Given the description of an element on the screen output the (x, y) to click on. 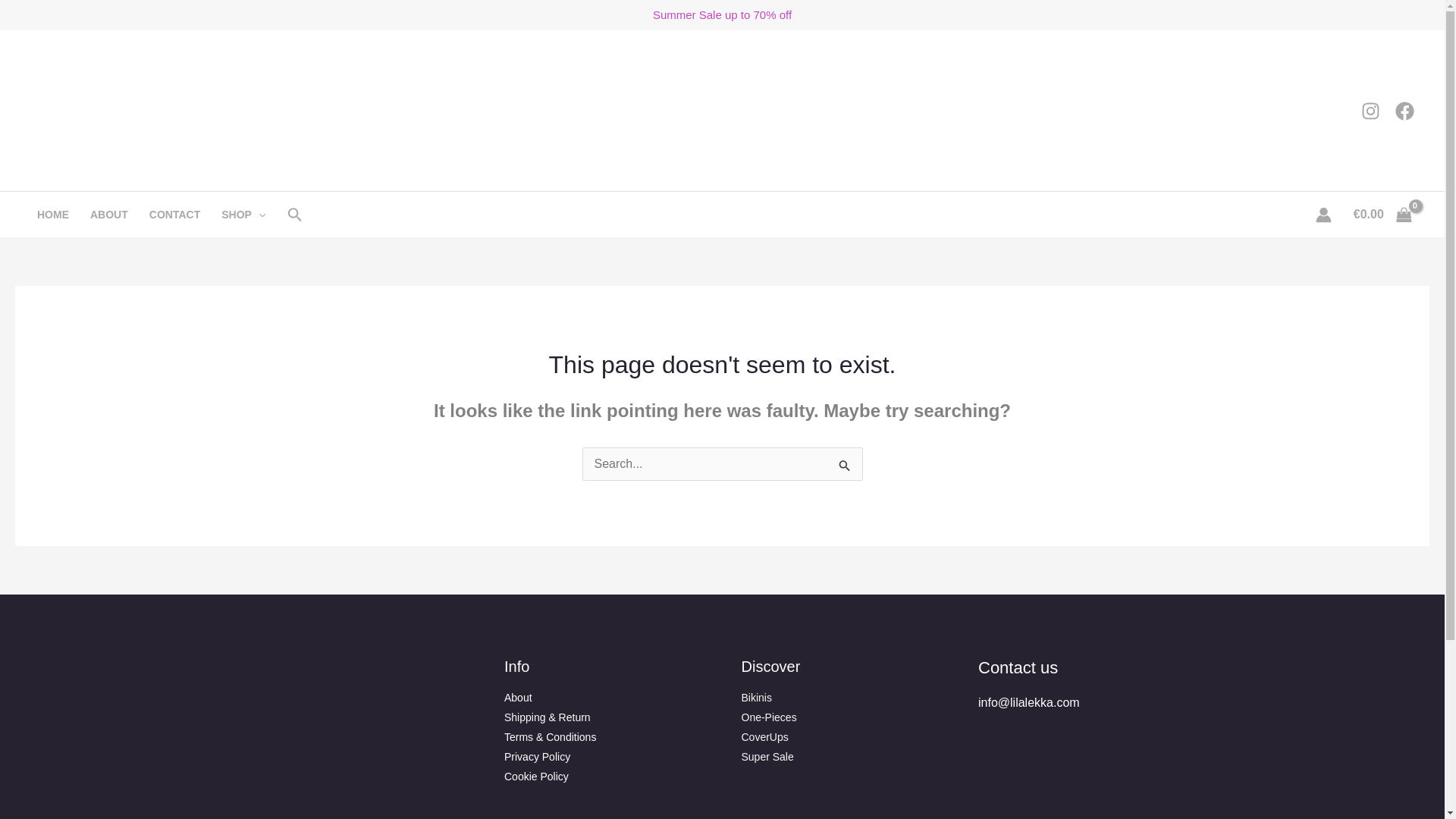
ABOUT (109, 214)
CONTACT (174, 214)
Search (844, 466)
HOME (53, 214)
Search (844, 466)
Search (844, 466)
SHOP (243, 214)
